Given the description of an element on the screen output the (x, y) to click on. 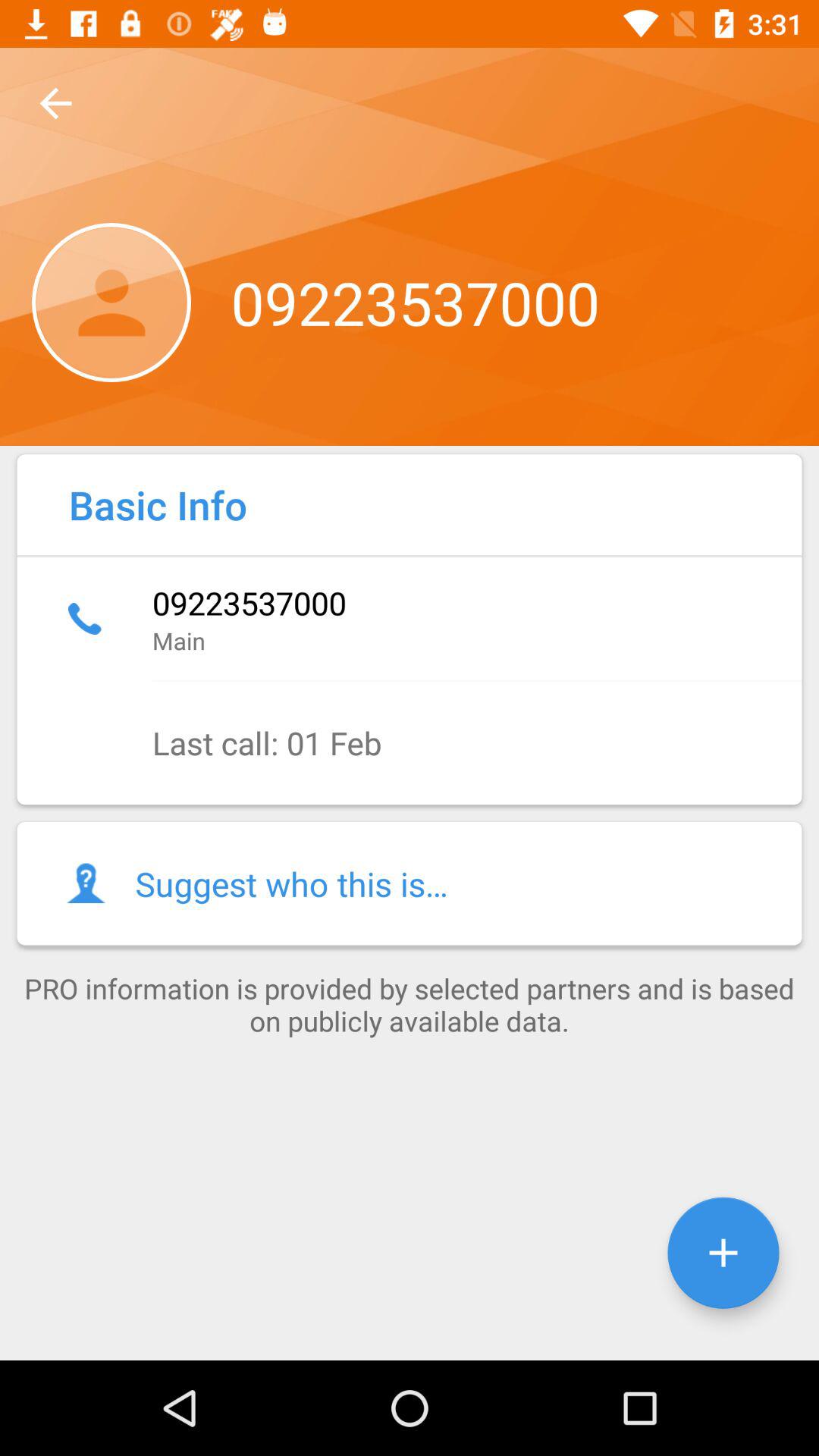
open the item below last call 01 (409, 883)
